Given the description of an element on the screen output the (x, y) to click on. 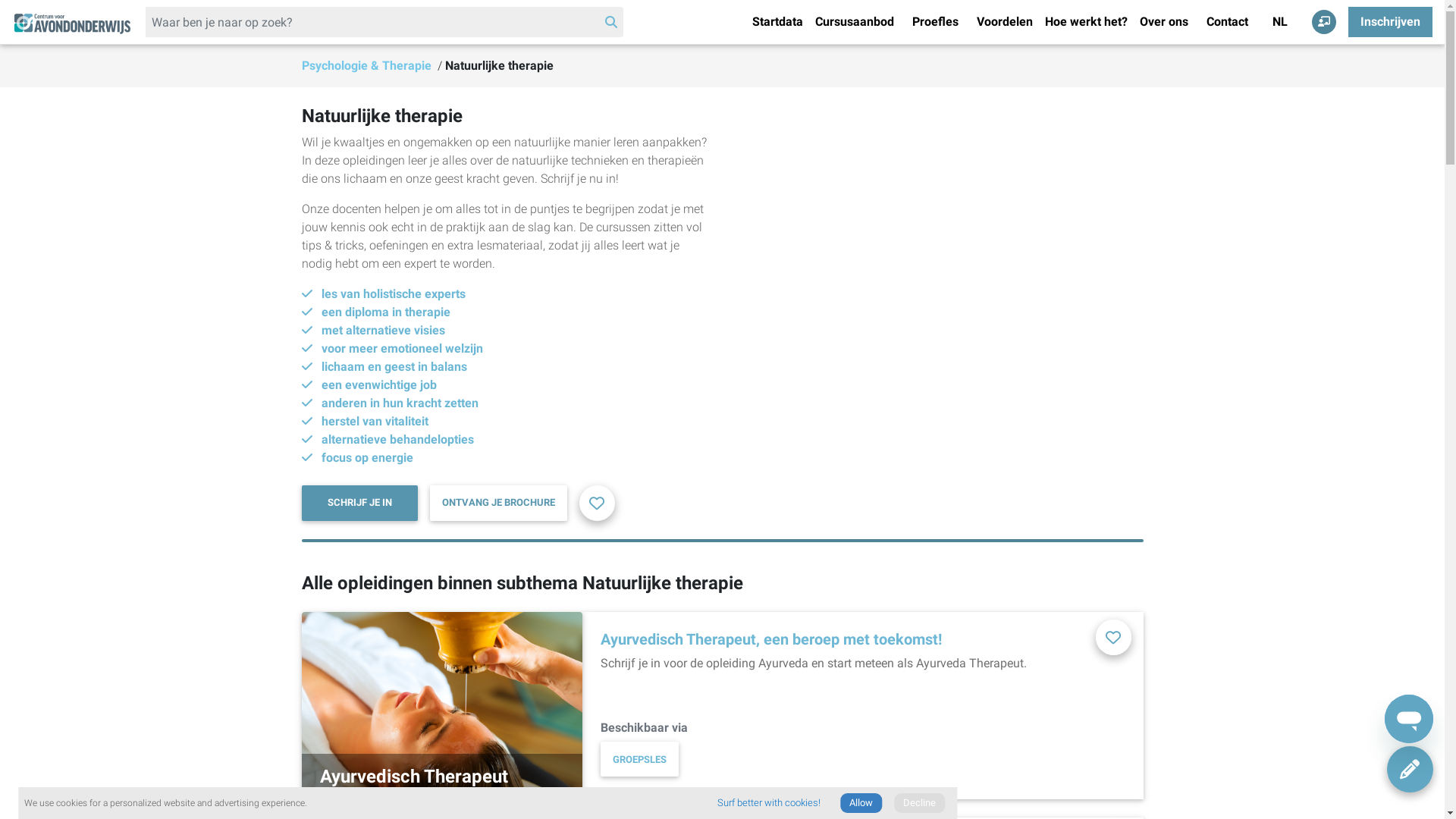
Proefles Element type: text (935, 21)
ONTVANG JE BROCHURE Element type: text (498, 502)
Voordelen Element type: text (1004, 21)
GROEPSLES Element type: text (639, 758)
Surf better with cookies! Element type: text (768, 802)
Button to launch messaging window Element type: hover (1408, 718)
Allow Element type: text (860, 802)
Startdata Element type: text (777, 21)
SCHRIJF JE IN Element type: text (359, 502)
Cursusaanbod Element type: text (854, 21)
Psychologie & Therapie Element type: text (367, 65)
Decline Element type: text (919, 802)
NL Element type: text (1279, 21)
Inschrijven Element type: text (1390, 21)
Hoe werkt het? Element type: text (1085, 21)
Over ons Element type: text (1163, 21)
Contact Element type: text (1227, 21)
